Given the description of an element on the screen output the (x, y) to click on. 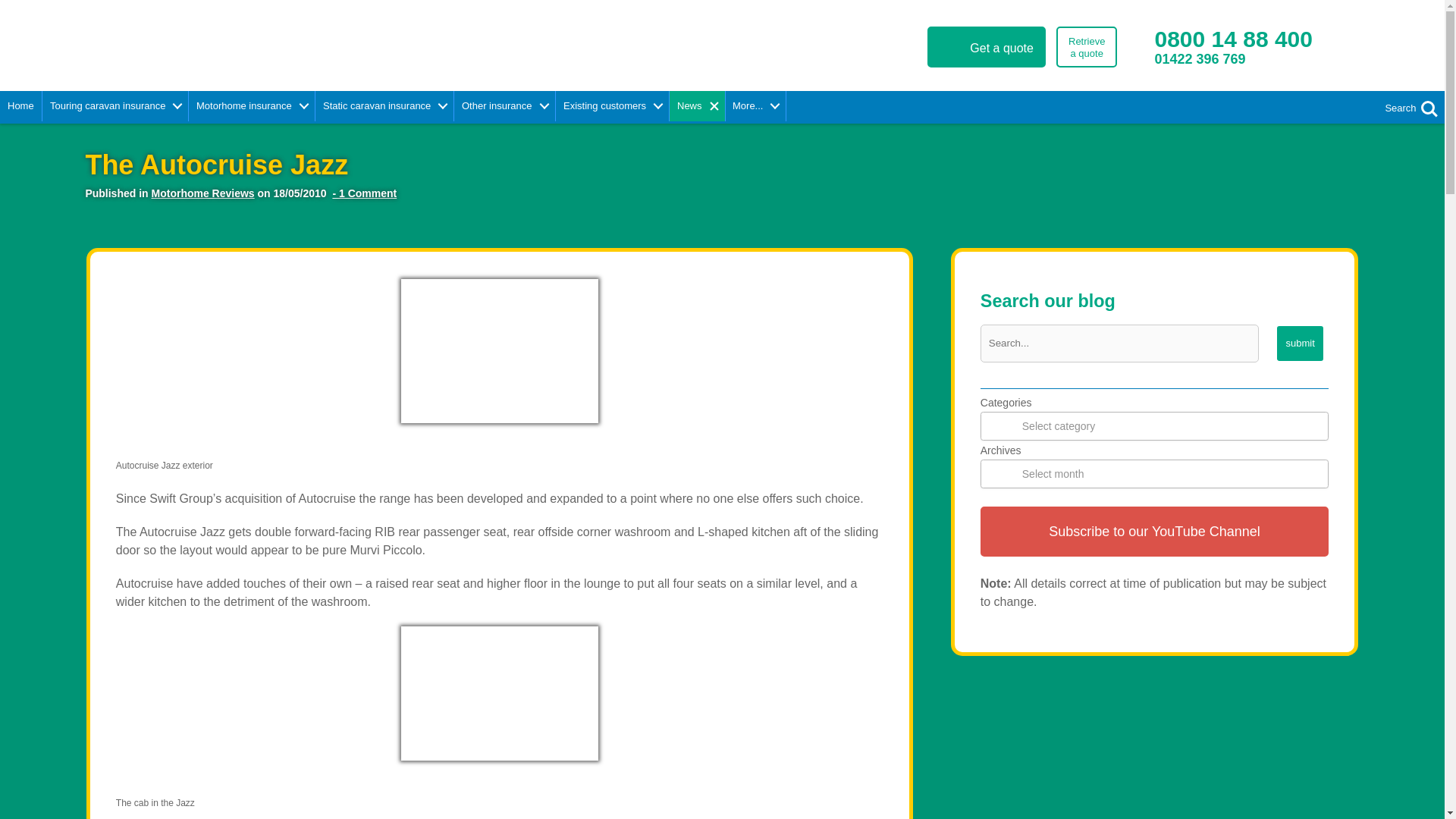
01422 396 769 (1219, 66)
submit (1299, 343)
Caravan Guard (221, 42)
Touring caravan insurance (115, 105)
Home (1086, 46)
0800 14 88 400 (21, 105)
quote (1233, 38)
